Given the description of an element on the screen output the (x, y) to click on. 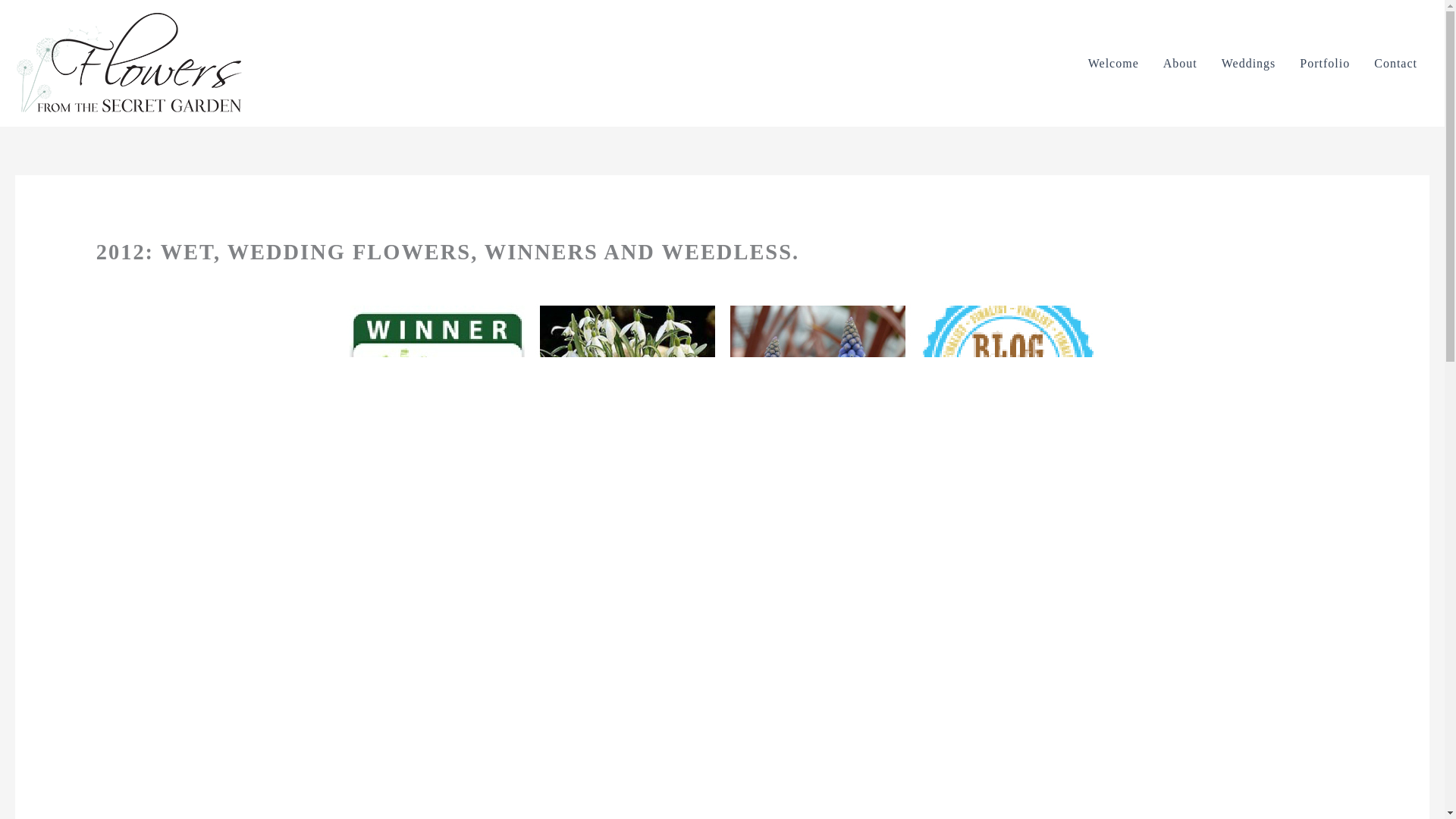
Welcome (1113, 63)
Weddings (1248, 63)
Contact (1395, 63)
About (1180, 63)
Portfolio (1324, 63)
